Given the description of an element on the screen output the (x, y) to click on. 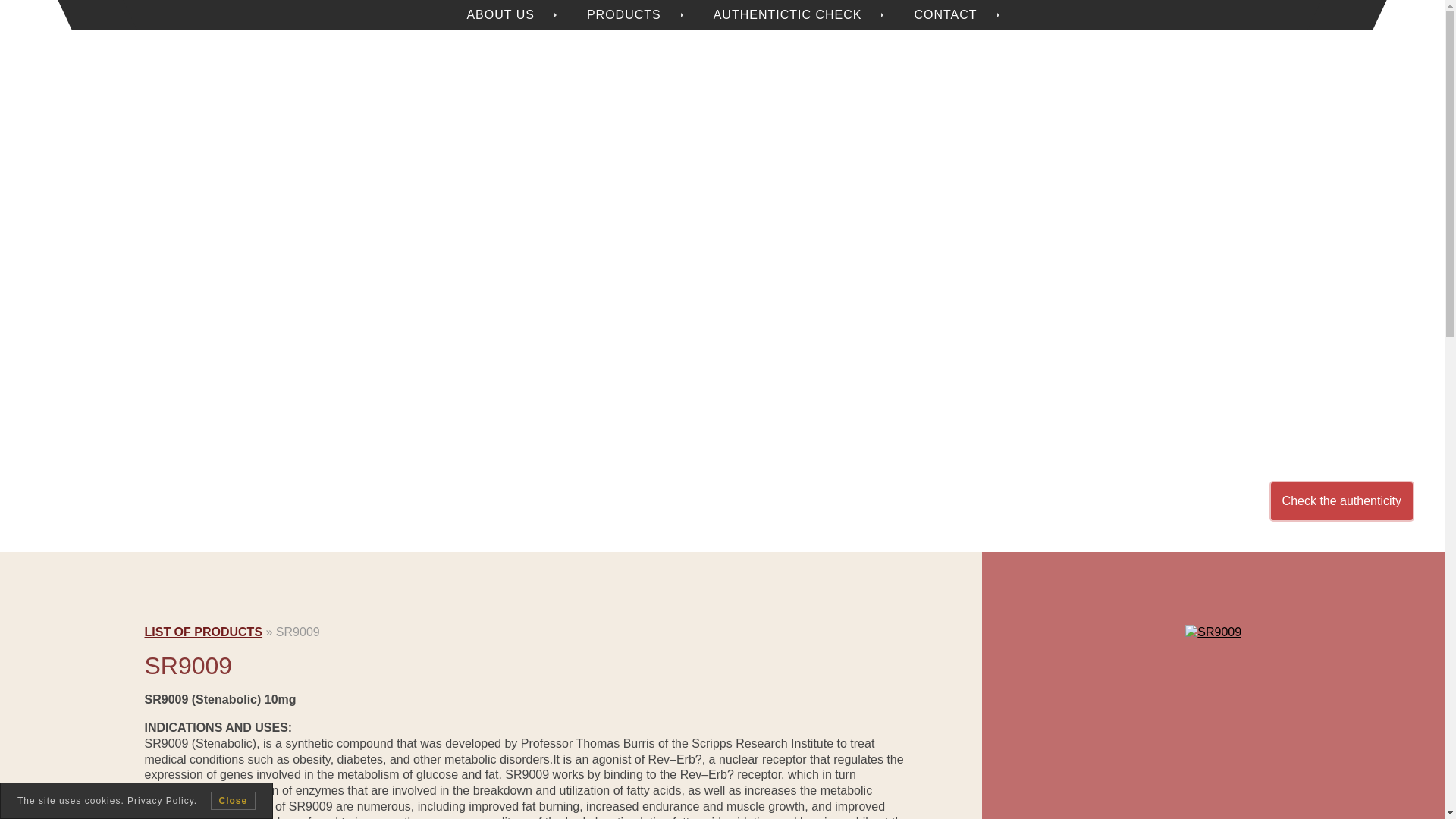
Check the authenticity (1341, 501)
Products (623, 15)
Close (233, 800)
AUTHENTICTIC CHECK (787, 15)
PRODUCTS (623, 15)
Privacy Policy (160, 800)
About Us (500, 15)
CONTACT (945, 15)
ABOUT US (500, 15)
